Given the description of an element on the screen output the (x, y) to click on. 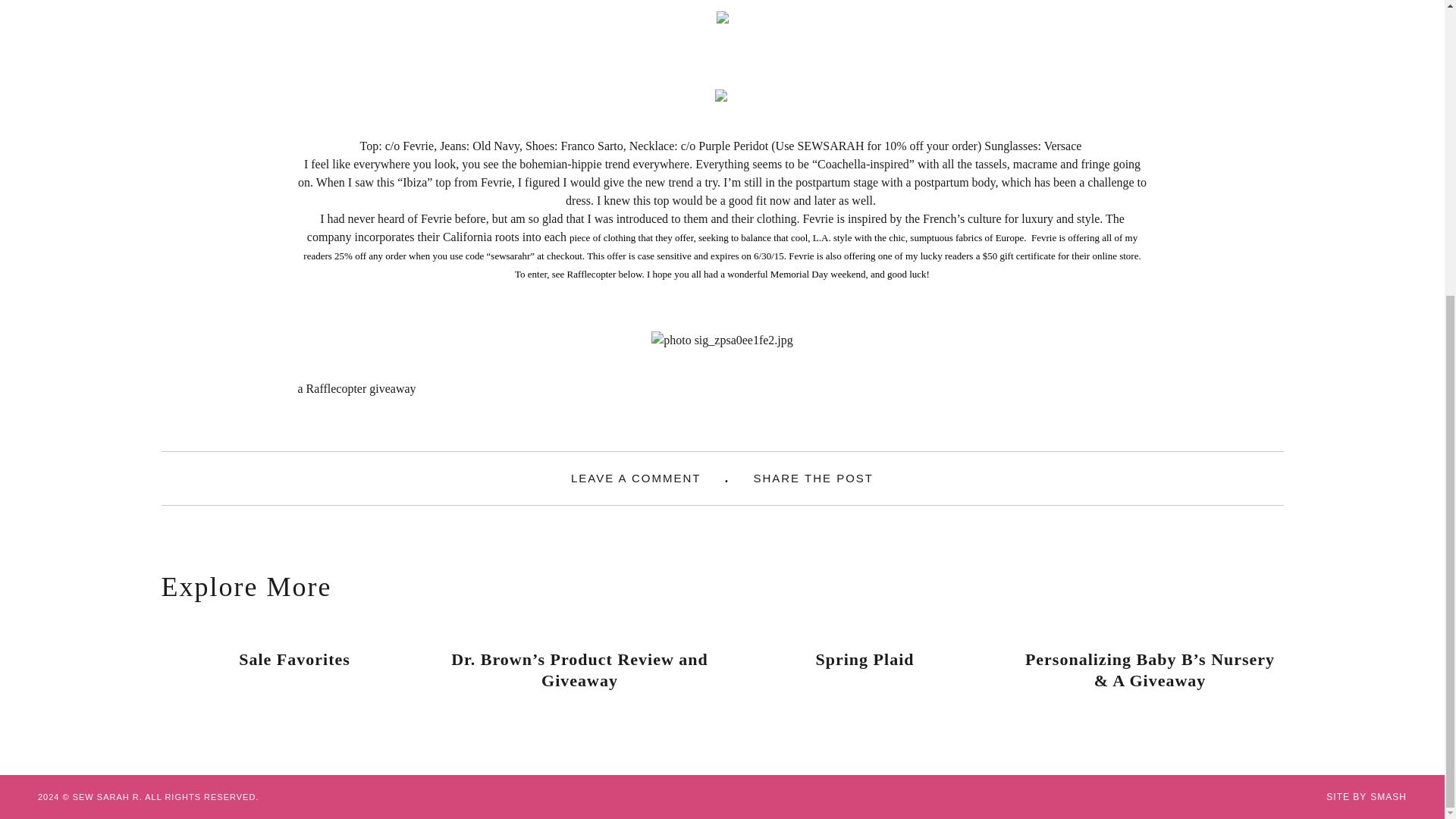
LEAVE A COMMENT (635, 478)
Franco Sarto (591, 145)
a Rafflecopter giveaway (355, 388)
LEAVE A COMMENT (635, 478)
Fevrie (435, 218)
Versace  (1063, 145)
Old Navy (495, 145)
Fevrie, (419, 145)
Purple Peridot (734, 145)
